Given the description of an element on the screen output the (x, y) to click on. 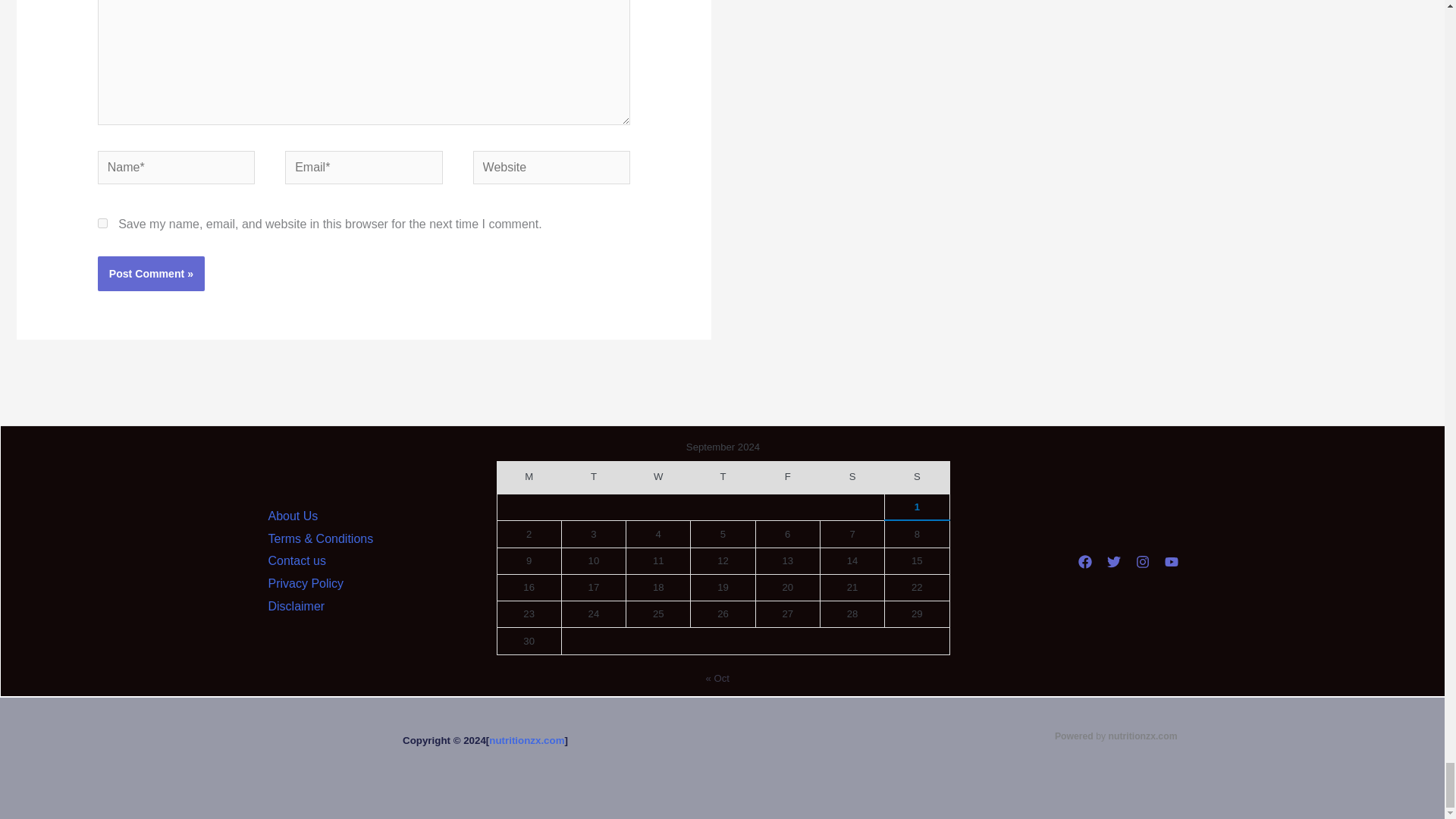
Saturday (851, 477)
Tuesday (593, 477)
yes (102, 223)
Sunday (917, 477)
Thursday (722, 477)
Wednesday (658, 477)
Monday (528, 477)
Friday (787, 477)
